Given the description of an element on the screen output the (x, y) to click on. 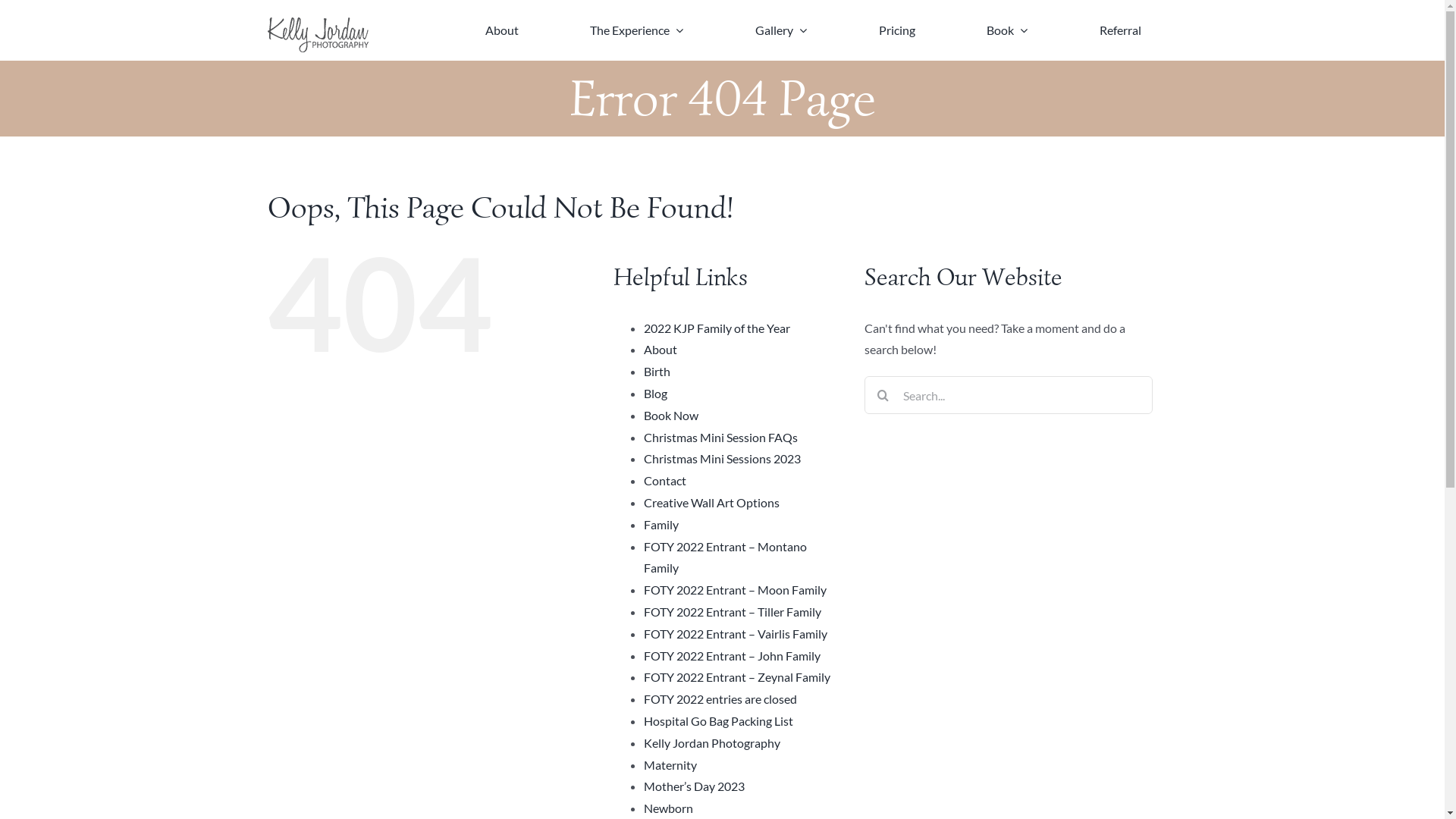
Book Element type: text (1006, 30)
logo-tiny Element type: hover (316, 34)
Kelly Jordan Photography Element type: text (711, 742)
Hospital Go Bag Packing List Element type: text (718, 720)
Creative Wall Art Options Element type: text (711, 502)
Christmas Mini Session FAQs Element type: text (720, 436)
FOTY 2022 entries are closed Element type: text (720, 698)
The Experience Element type: text (636, 30)
Family Element type: text (660, 524)
Referral Element type: text (1120, 30)
Book Now Element type: text (670, 414)
Pricing Element type: text (896, 30)
Maternity Element type: text (669, 764)
Contact Element type: text (664, 480)
Christmas Mini Sessions 2023 Element type: text (721, 458)
2022 KJP Family of the Year Element type: text (716, 327)
Gallery Element type: text (780, 30)
About Element type: text (660, 349)
Newborn Element type: text (668, 807)
About Element type: text (501, 30)
Birth Element type: text (656, 371)
Blog Element type: text (655, 392)
